Given the description of an element on the screen output the (x, y) to click on. 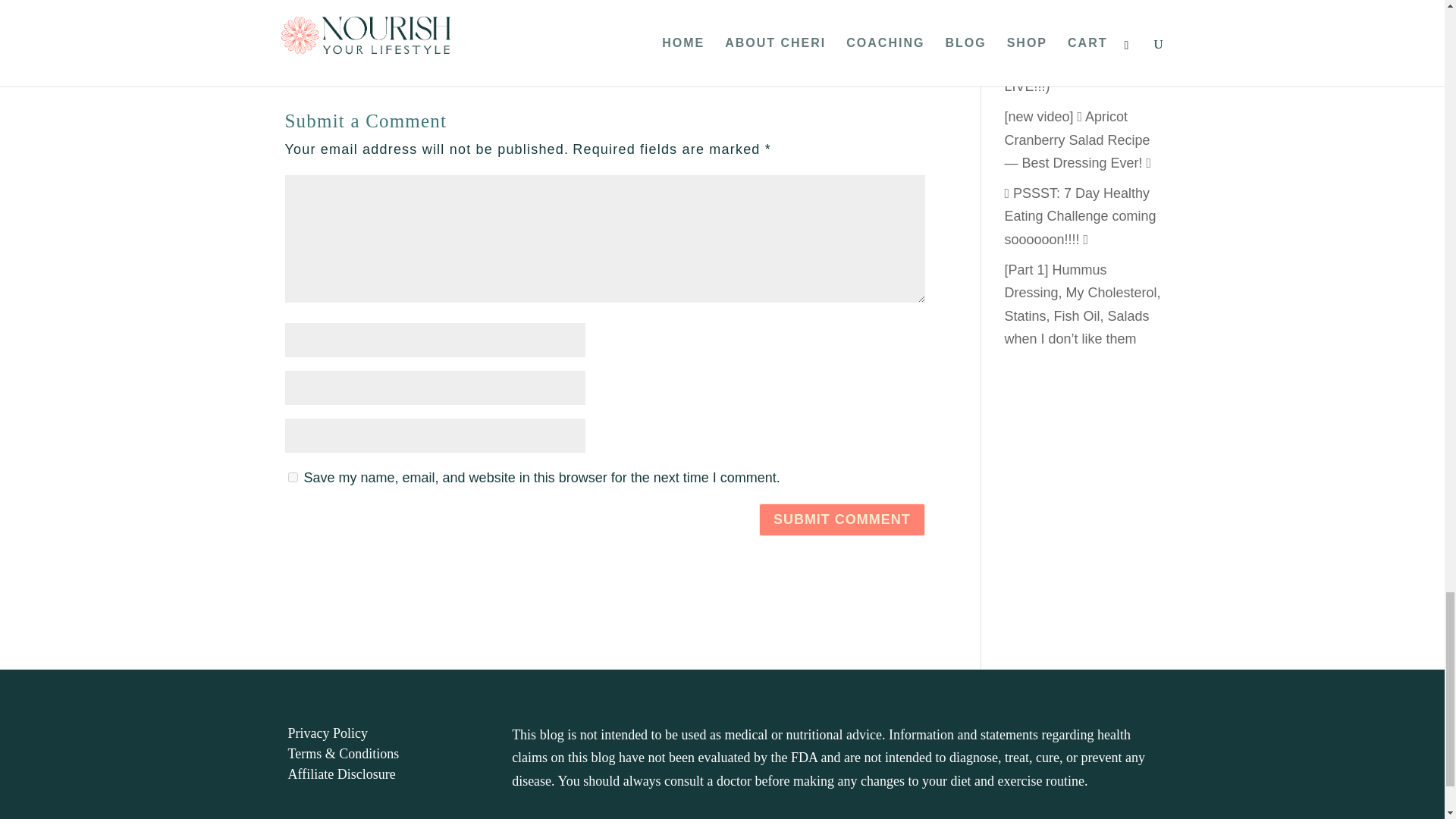
Privacy Policy (328, 733)
Submit Comment (841, 519)
Submit Comment (841, 519)
yes (293, 477)
Affiliate Disclosure (342, 774)
